Given the description of an element on the screen output the (x, y) to click on. 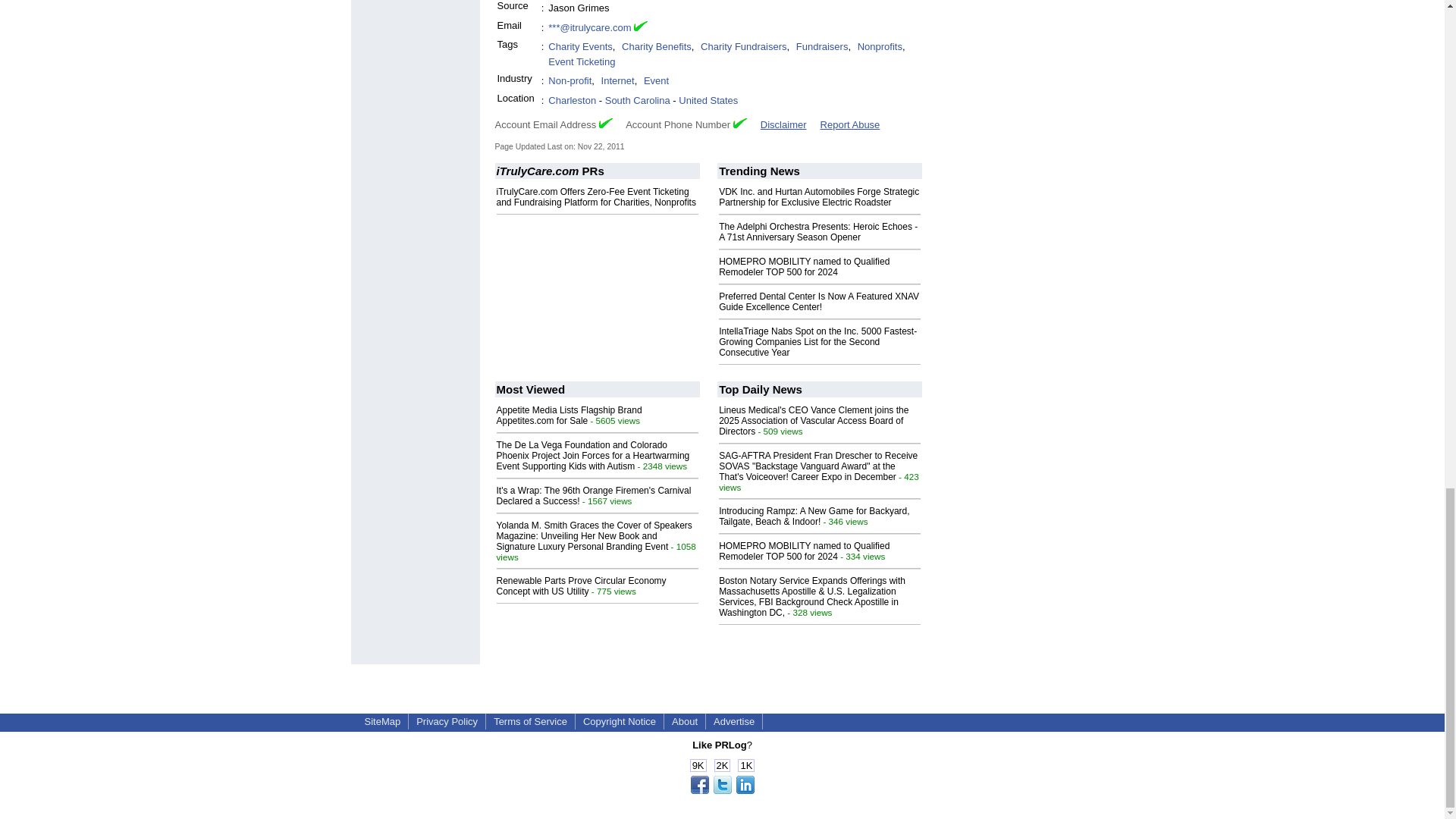
Verified (605, 122)
Email Verified (640, 28)
Verified (739, 122)
Share this page! (722, 790)
